Given the description of an element on the screen output the (x, y) to click on. 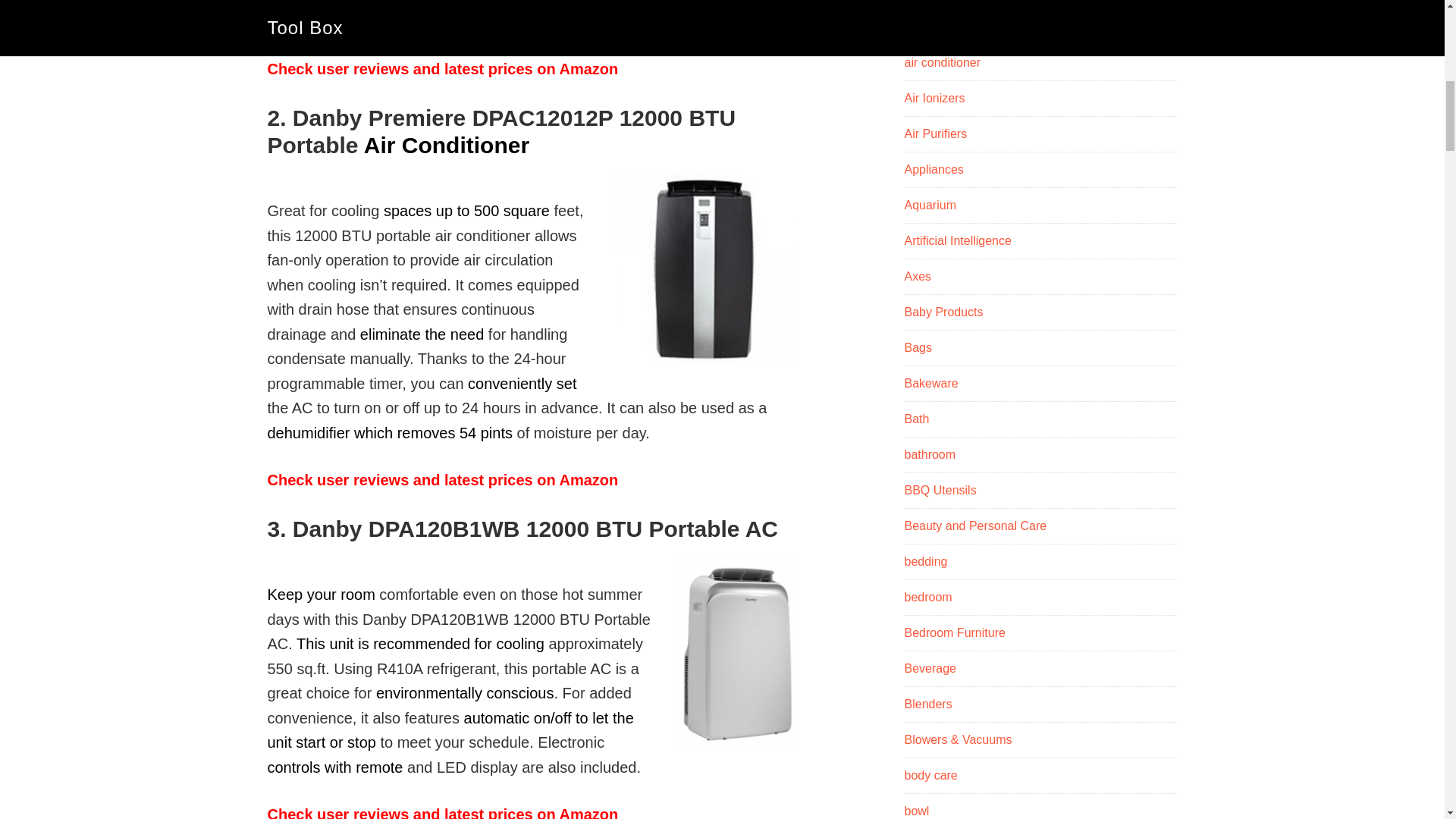
Danby Premiere DPAC12012P 12000 BTU Portable Air Conditioner (702, 268)
Check user reviews and latest prices on Amazon (441, 812)
Check user reviews and latest prices on Amazon (441, 479)
This unit is recommended for cooling (420, 643)
Check user reviews and latest prices on Amazon (441, 68)
Keep your room (320, 594)
environmentally conscious (464, 692)
conveniently set (521, 383)
controls with remote (334, 767)
spaces up to 500 square (467, 210)
